Given the description of an element on the screen output the (x, y) to click on. 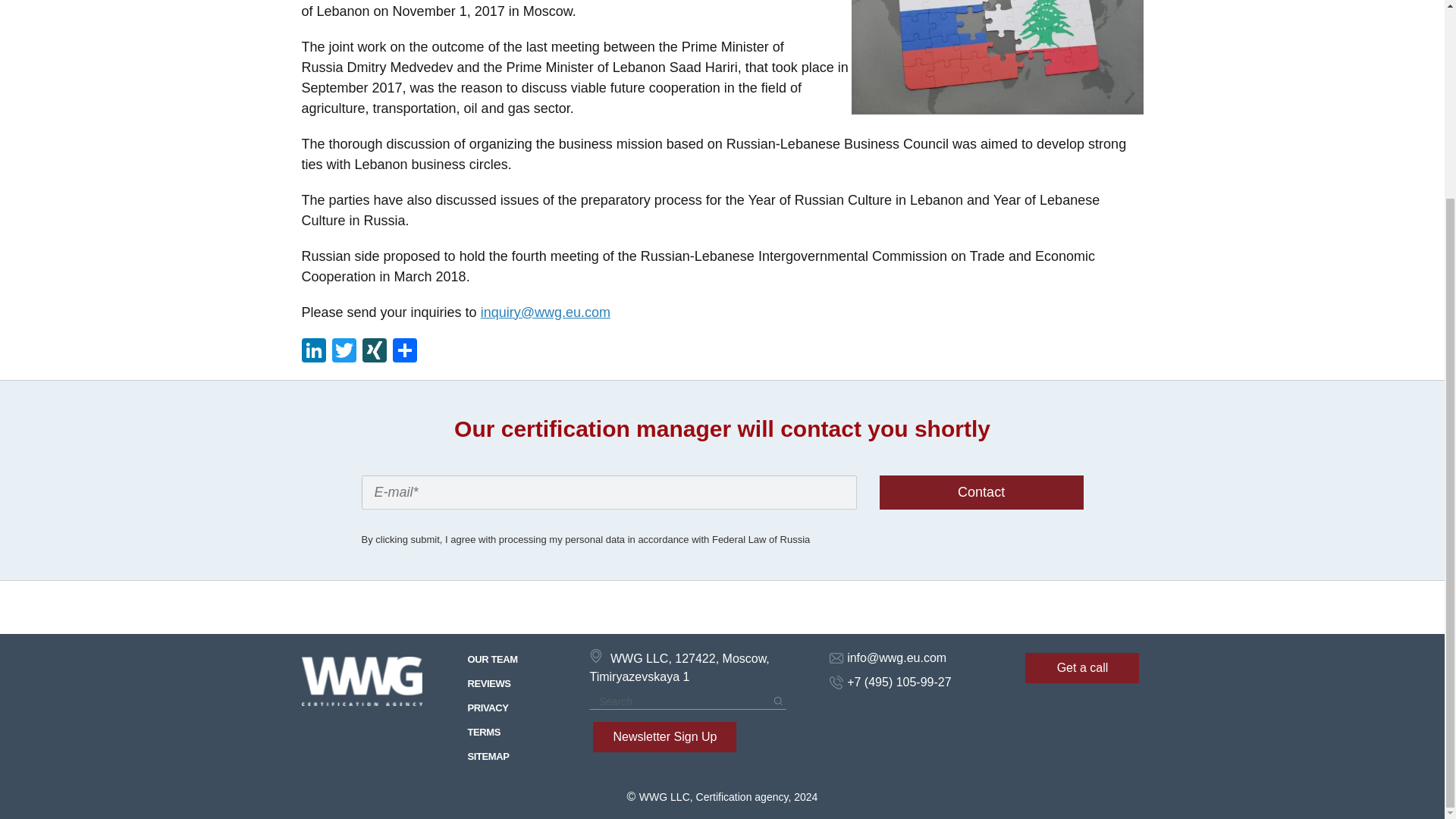
WWG (362, 681)
XING (374, 352)
OUR TEAM (509, 659)
Share (405, 352)
Twitter (344, 352)
LinkedIn (315, 352)
XING (374, 352)
LinkedIn (315, 352)
Twitter (344, 352)
Contact (981, 491)
Contact (981, 491)
